Given the description of an element on the screen output the (x, y) to click on. 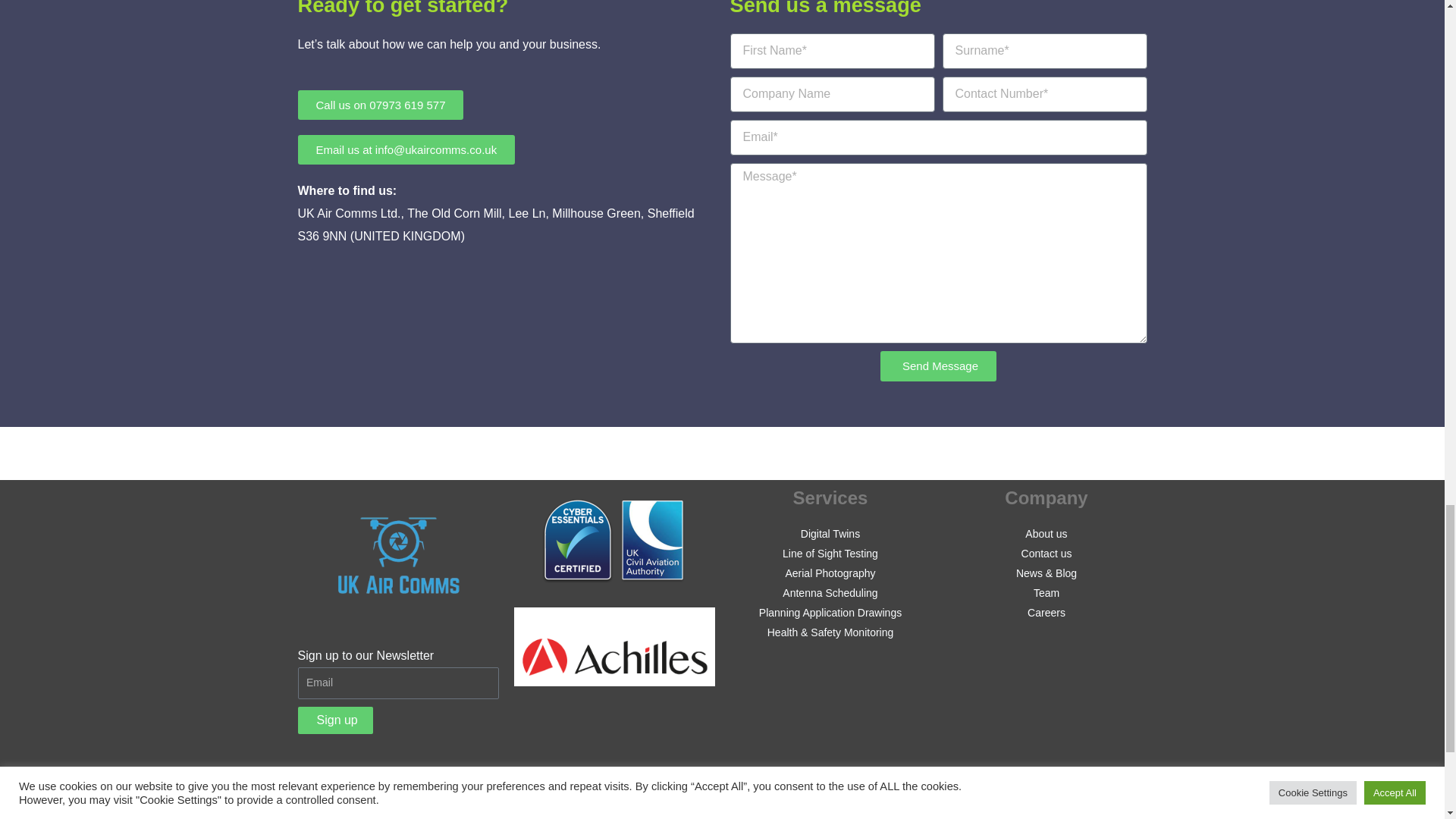
badges (614, 539)
